Given the description of an element on the screen output the (x, y) to click on. 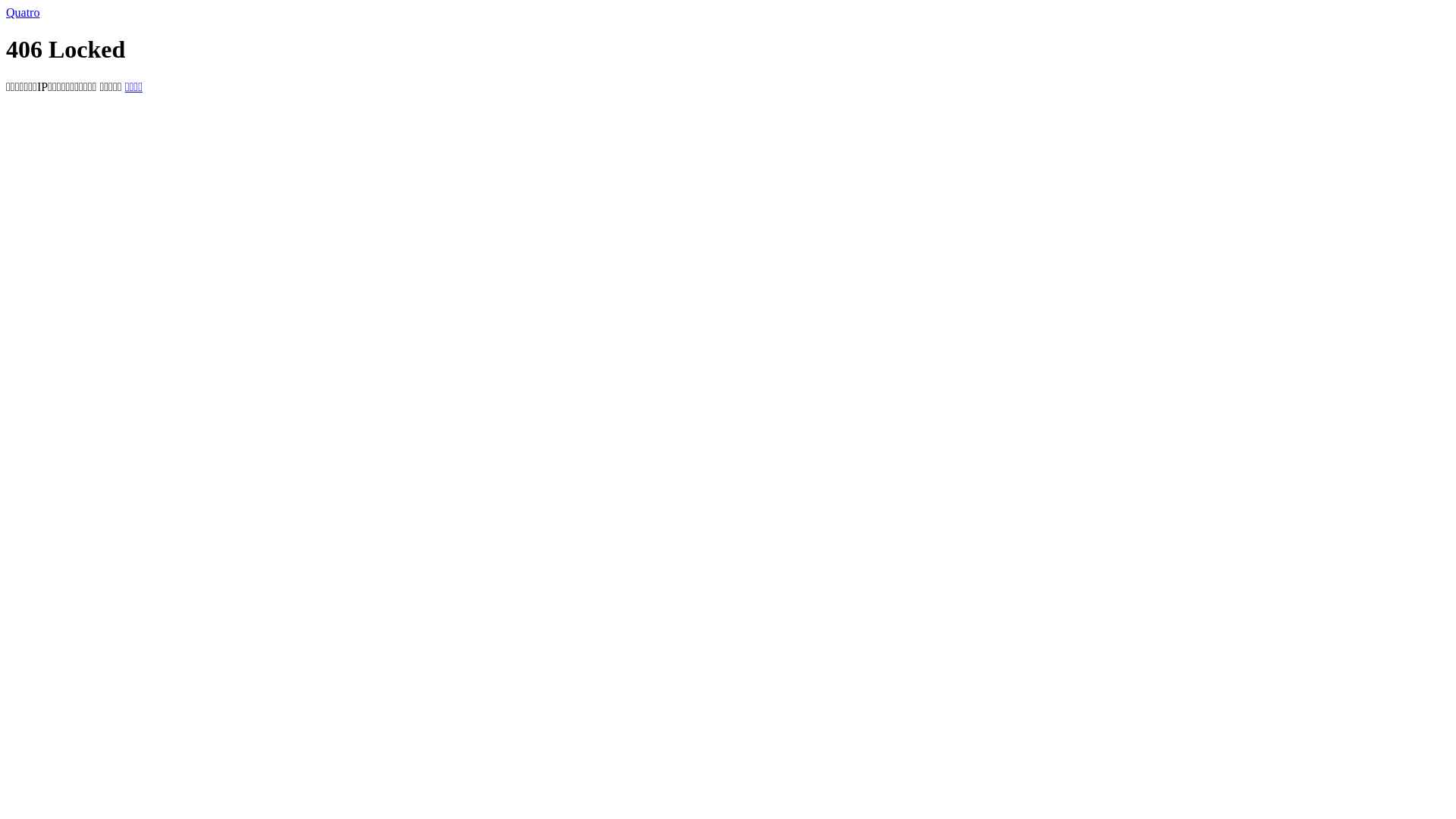
Quatro Element type: text (22, 12)
